Given the description of an element on the screen output the (x, y) to click on. 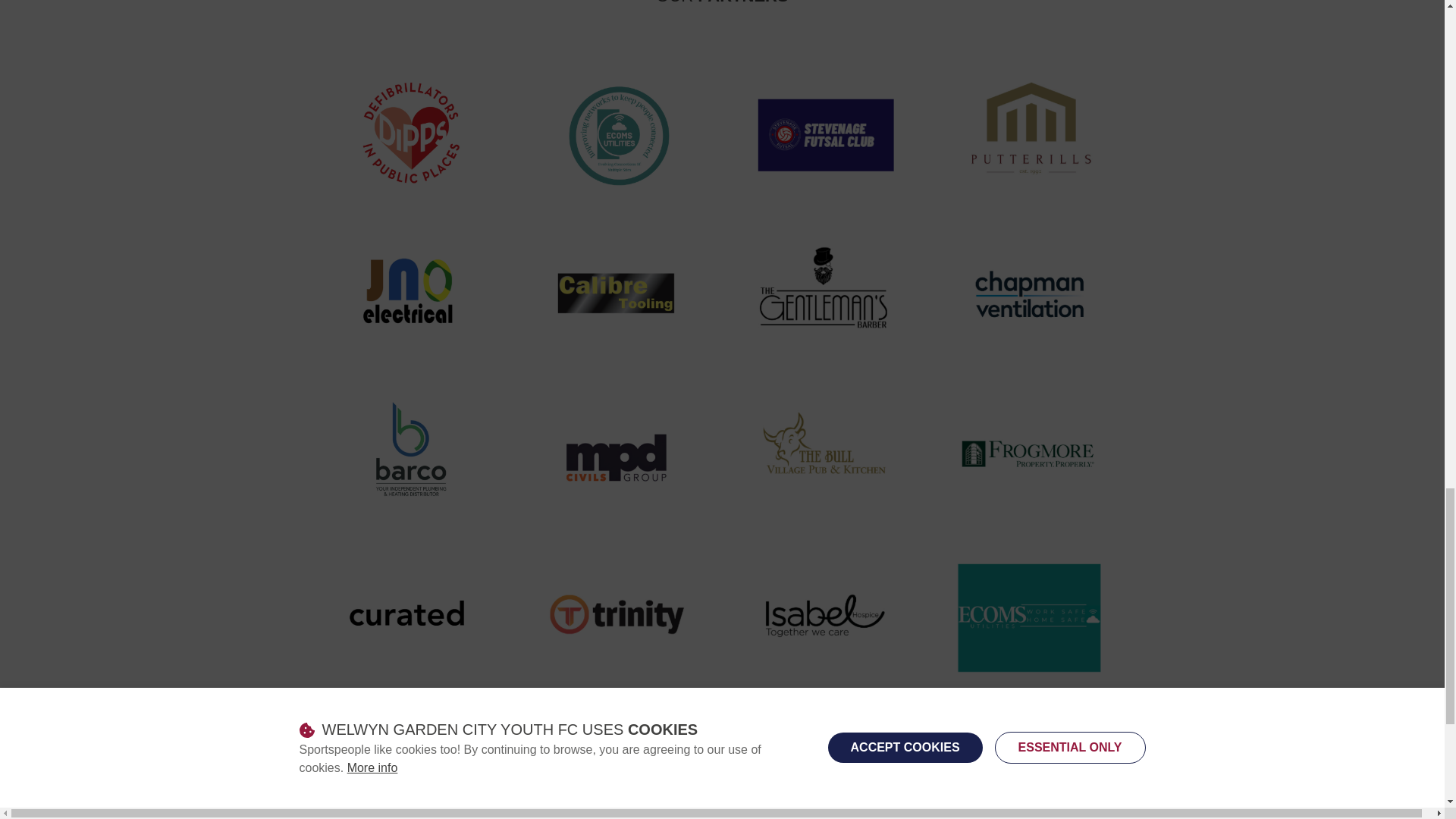
 DIPPS (410, 133)
